Given the description of an element on the screen output the (x, y) to click on. 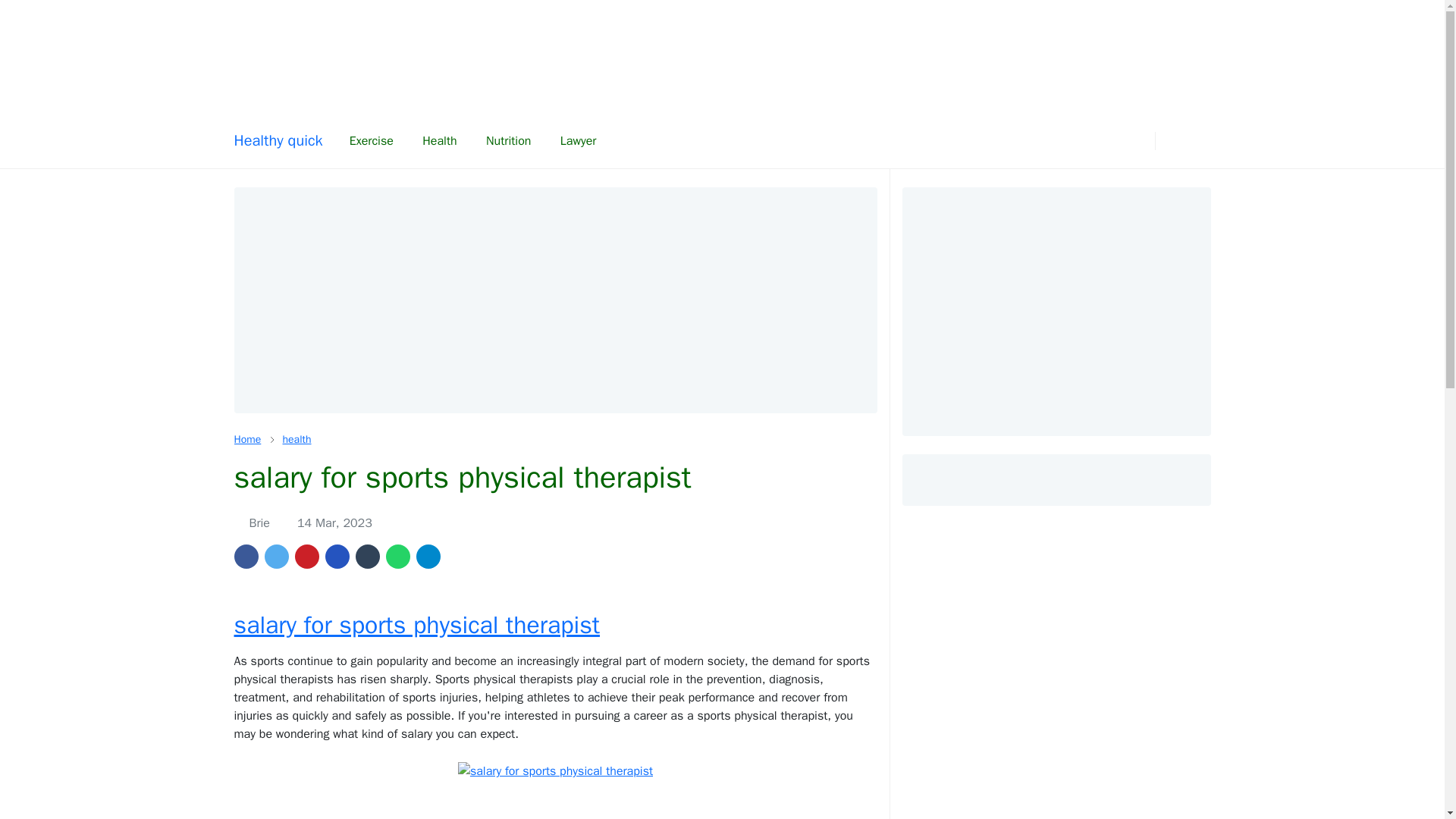
Nutrition (508, 140)
health (296, 439)
Home (246, 439)
salary for sports physical therapist (415, 624)
Pin It (306, 556)
Tumblr Share (366, 556)
salary for sports physical therapist (555, 771)
Facebook Share (244, 556)
Tweet This (275, 556)
health (296, 439)
